Given the description of an element on the screen output the (x, y) to click on. 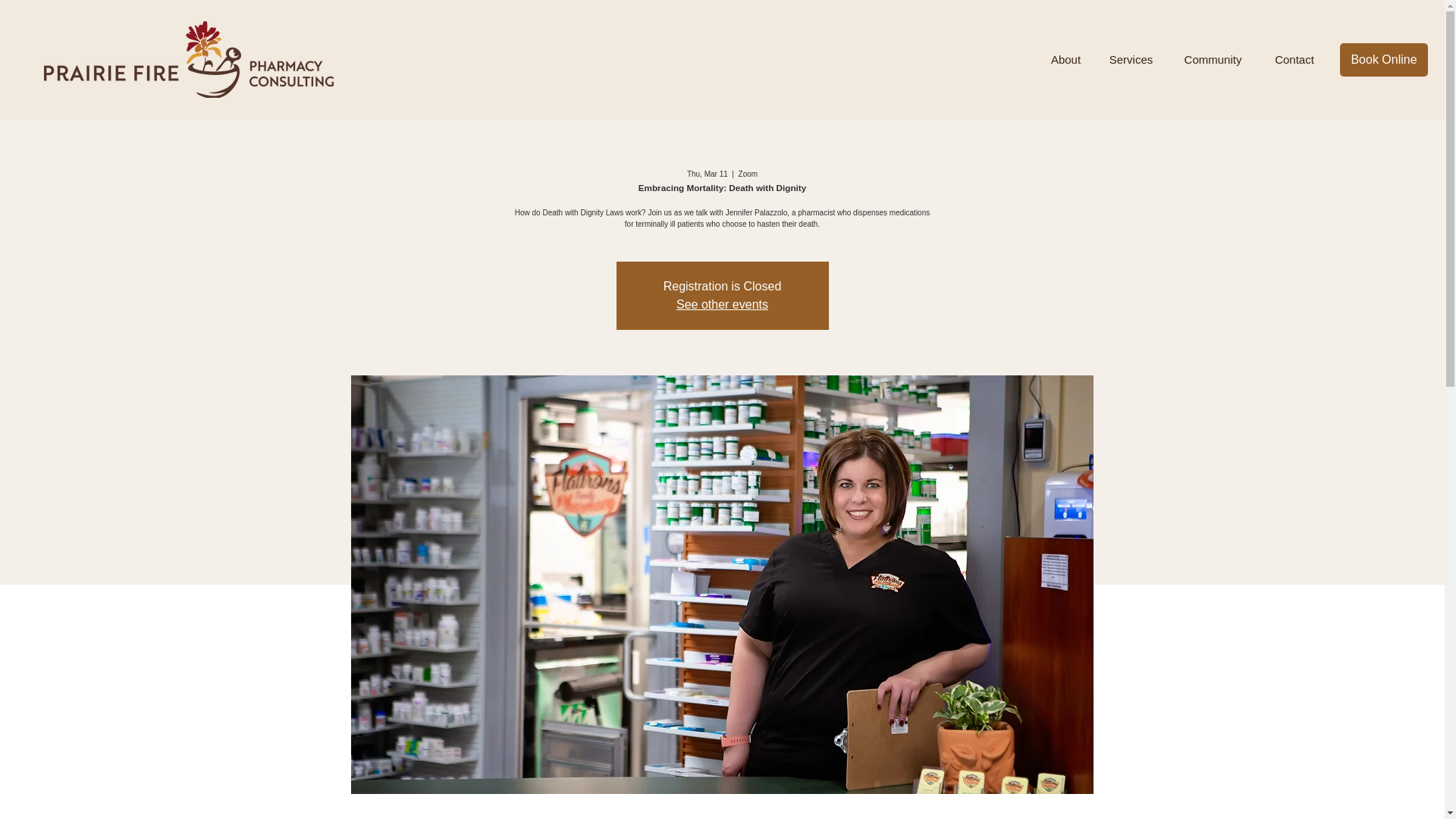
Book Online (1383, 59)
About (1065, 59)
Contact (1294, 59)
Prairie Fire Pharmacy Consulting (188, 59)
See other events (722, 304)
